Given the description of an element on the screen output the (x, y) to click on. 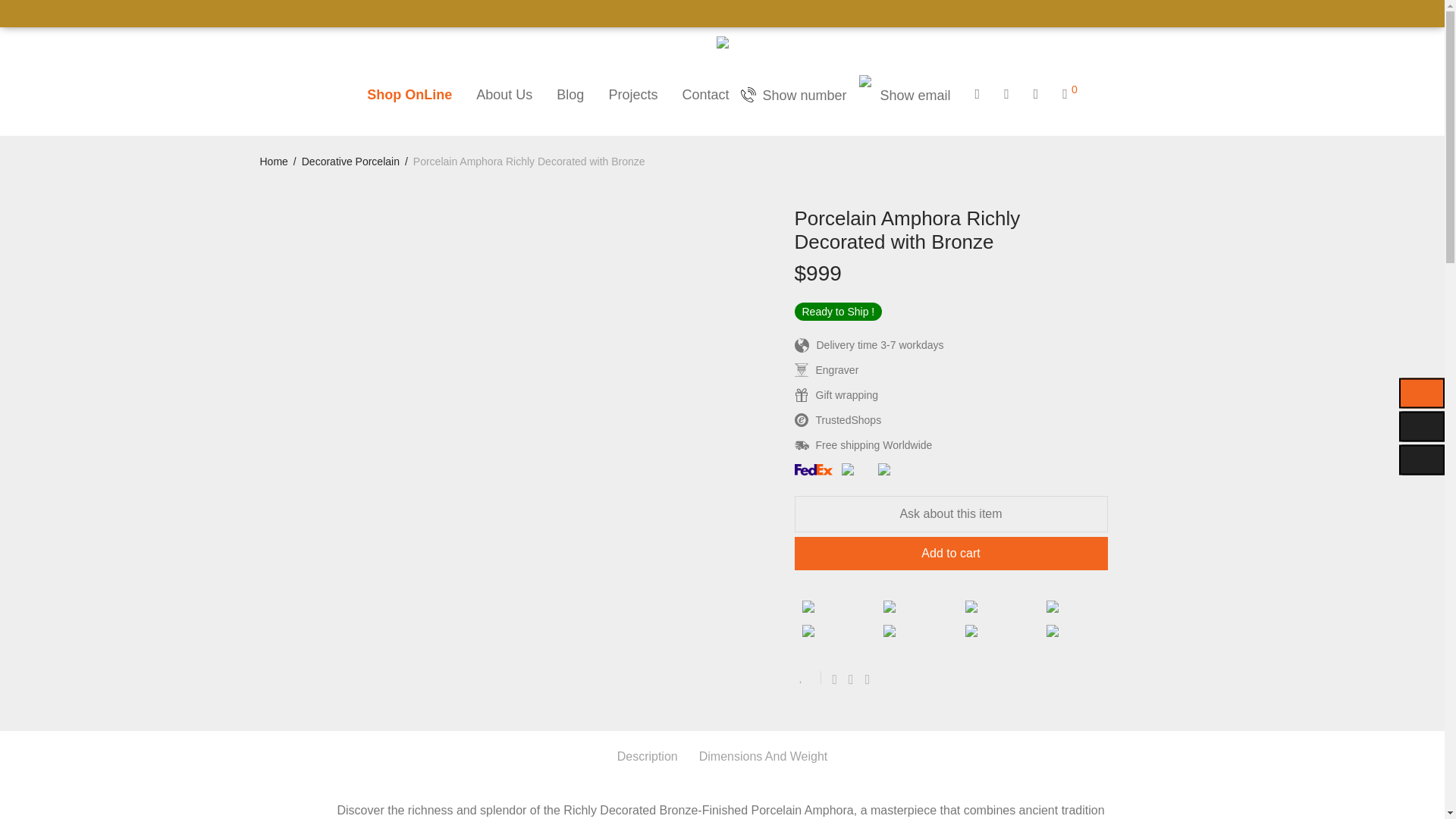
Shop OnLine (409, 94)
Add to Wishlist (807, 676)
